Given the description of an element on the screen output the (x, y) to click on. 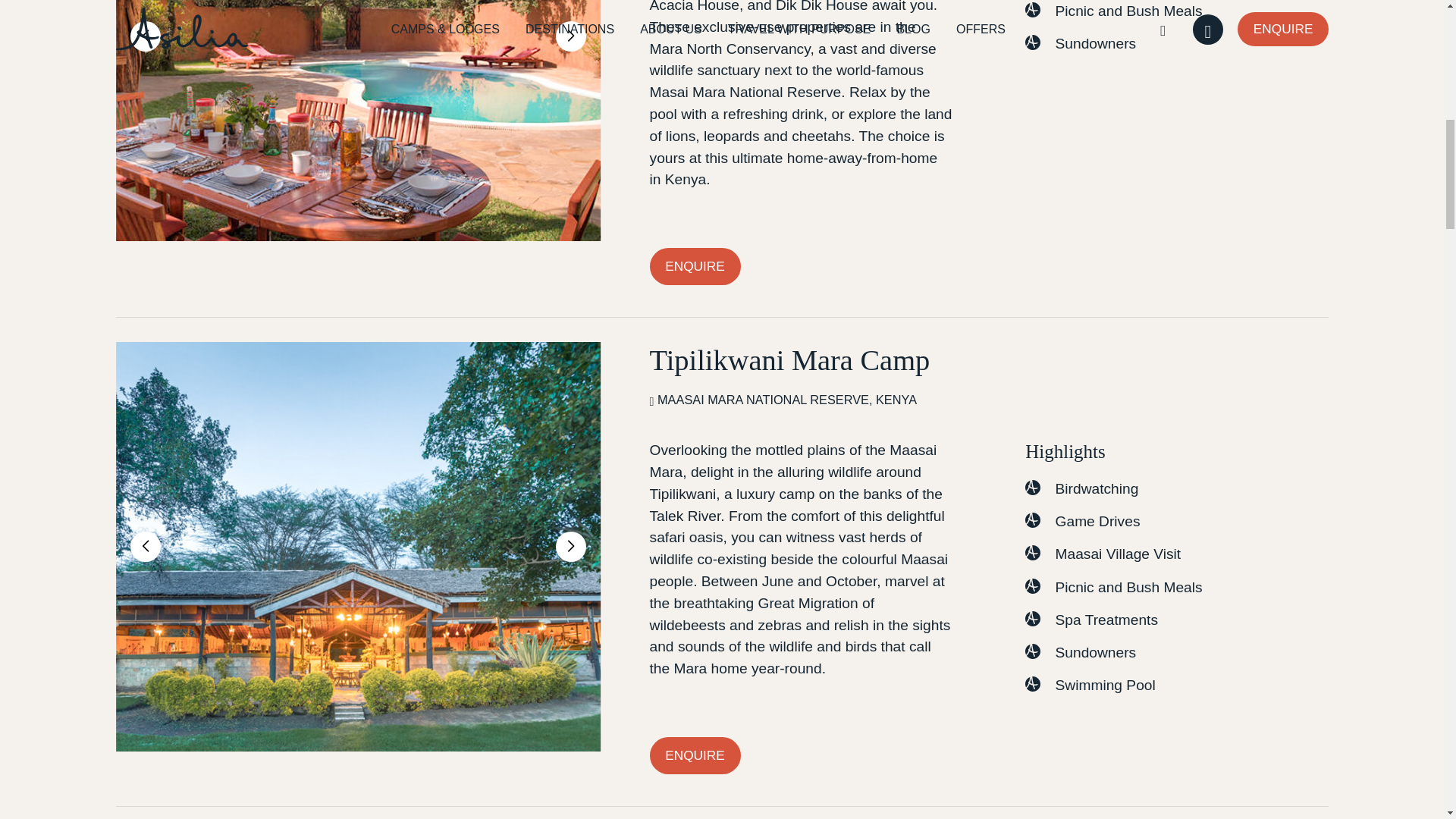
ENQUIRE (695, 755)
ENQUIRE (695, 266)
